Given the description of an element on the screen output the (x, y) to click on. 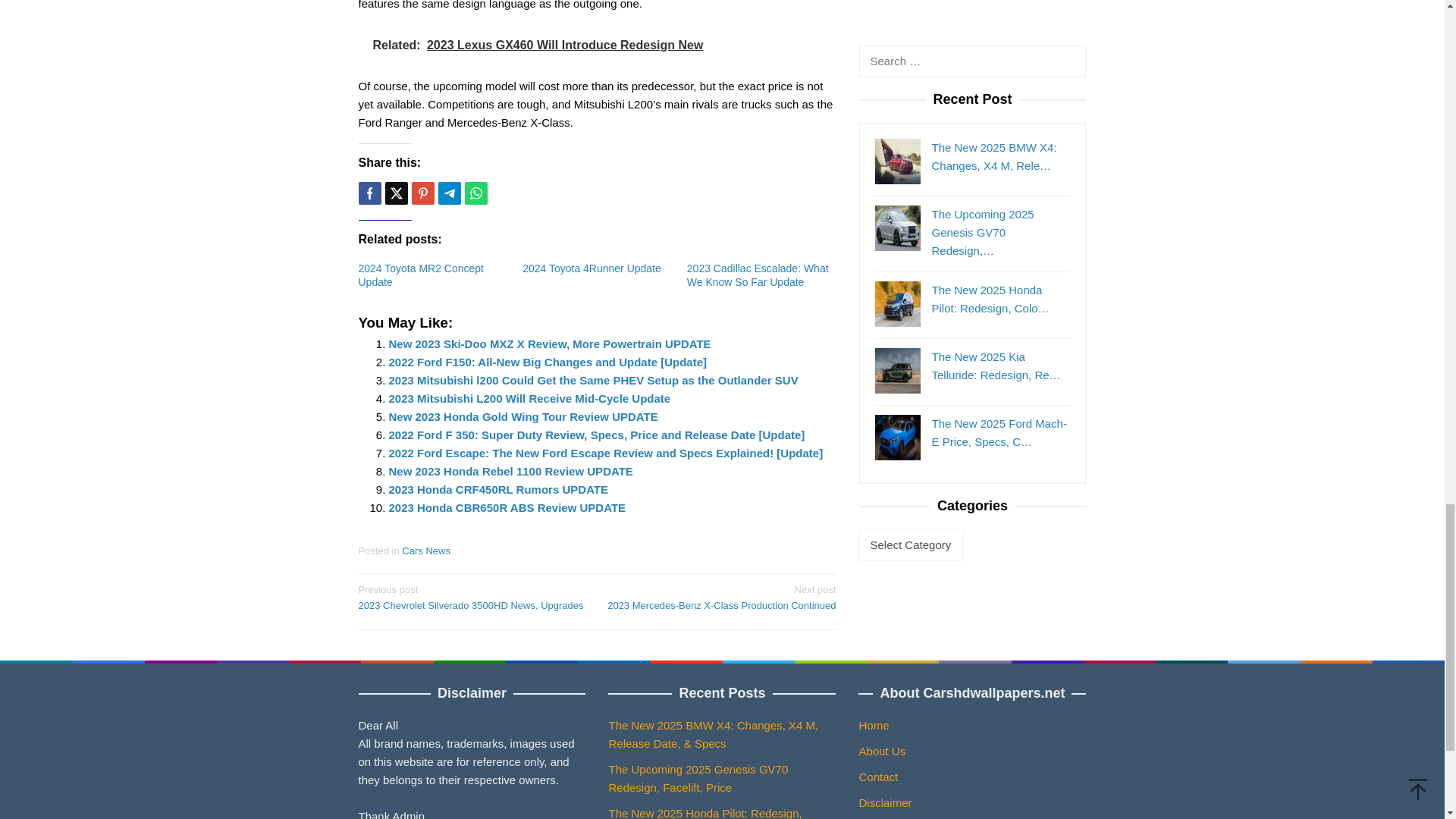
Tweet this (396, 192)
Share this (369, 192)
Pin this (421, 192)
Whatsapp (475, 192)
Telegram Share (449, 192)
